Given the description of an element on the screen output the (x, y) to click on. 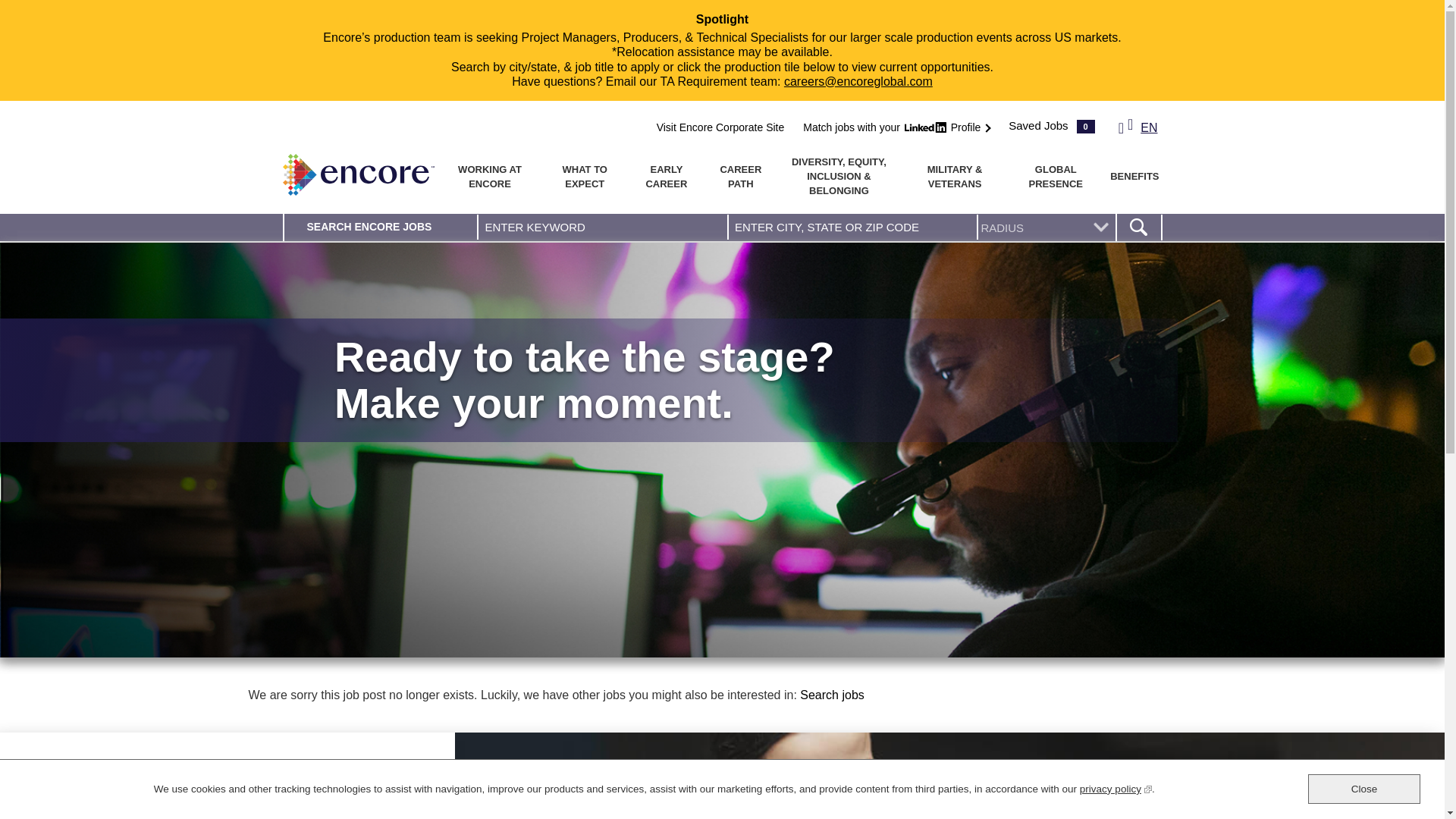
Search jobs (831, 694)
EARLY CAREER (666, 176)
GLOBAL PRESENCE (1055, 176)
EN (1137, 130)
WHAT TO EXPECT (585, 176)
Saved Jobs 0 (1051, 125)
Visit Encore Corporate Site (720, 127)
Close (1363, 788)
CAREER PATH (741, 176)
Search (1138, 226)
Match jobs with your Profile (893, 127)
WORKING AT ENCORE (489, 176)
BENEFITS (1133, 175)
